Given the description of an element on the screen output the (x, y) to click on. 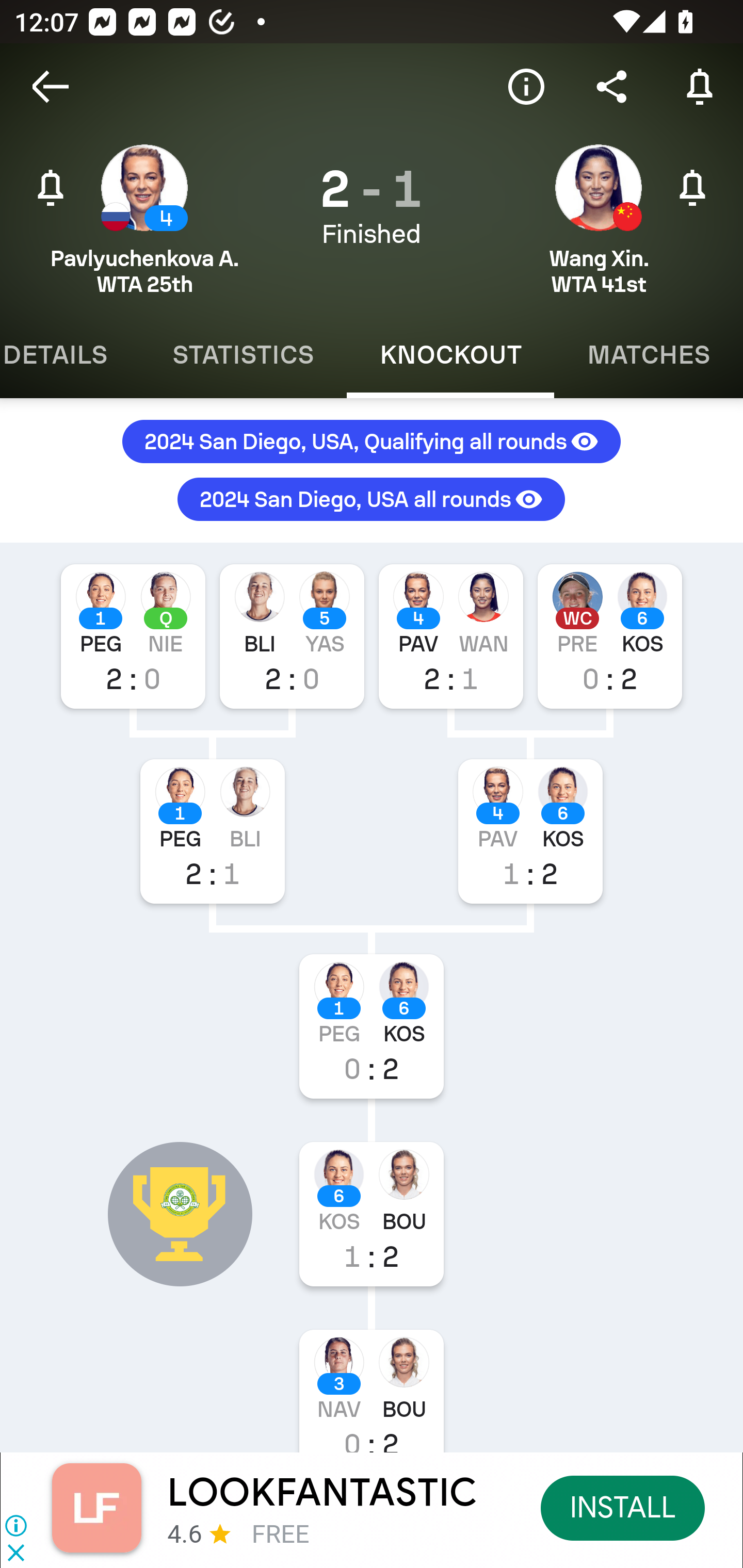
Navigate up (50, 86)
Details DETAILS (69, 355)
Statistics STATISTICS (242, 355)
Matches MATCHES (648, 355)
2024 San Diego, USA, Qualifying all rounds (371, 441)
2024 San Diego, USA all rounds (371, 491)
LOOKFANTASTIC (322, 1493)
INSTALL (623, 1507)
